Given the description of an element on the screen output the (x, y) to click on. 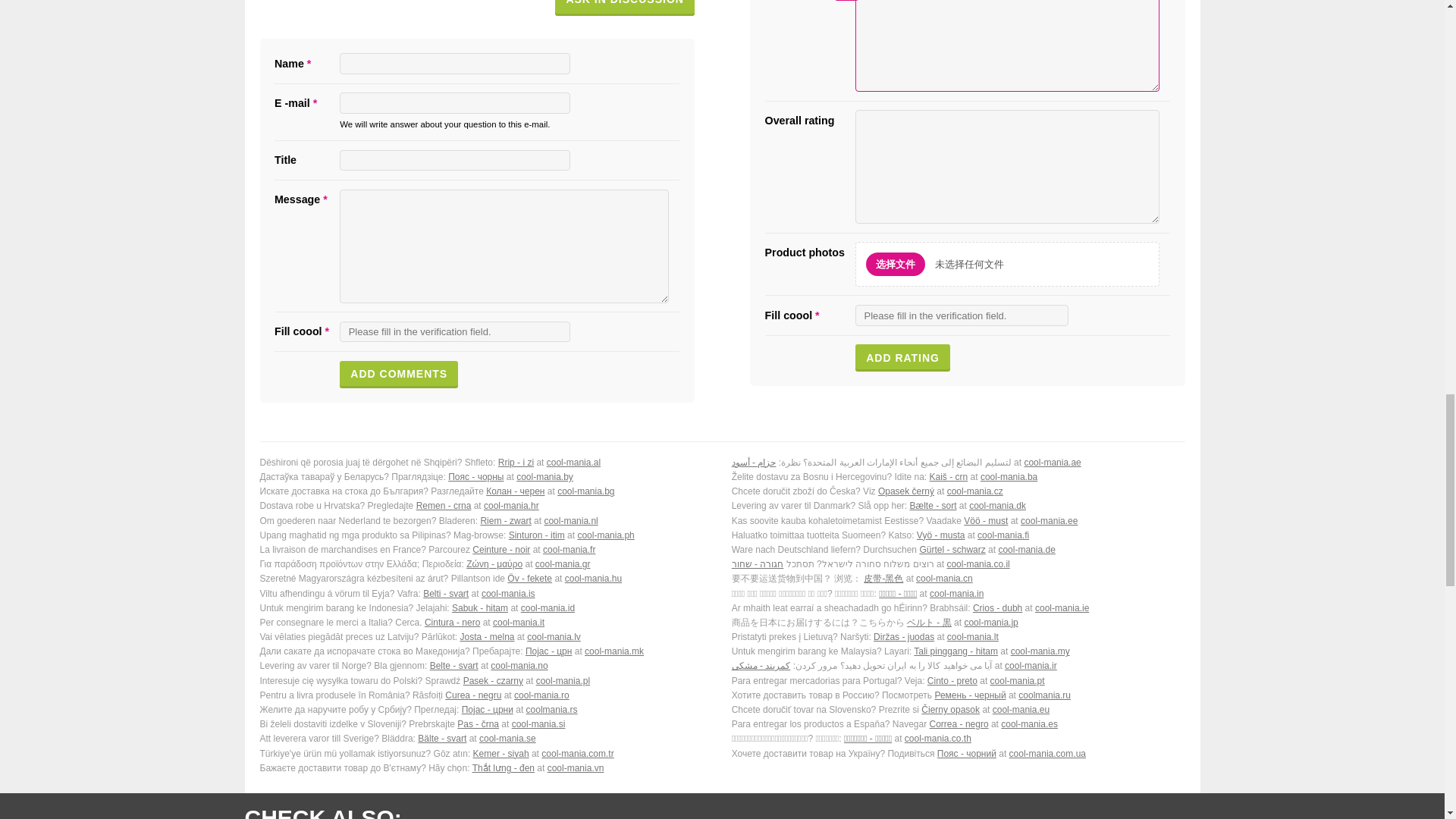
Rrip - i zi (515, 434)
cool-mania.by (544, 449)
To deliver goods worldwide? Browse: (486, 508)
To deliver goods worldwide? Browse: (486, 566)
cool-mania.al (573, 434)
To deliver goods worldwide? Browse: (486, 435)
To deliver goods worldwide? Browse: (486, 464)
To deliver goods worldwide? Browse: (486, 493)
To deliver goods worldwide? Browse: (486, 478)
To deliver goods worldwide? Browse: (958, 551)
To deliver goods worldwide? Browse: (958, 536)
To deliver goods worldwide? Browse: (958, 478)
To deliver goods worldwide? Browse: (958, 464)
To deliver goods worldwide? Browse: (486, 551)
Add comments (398, 347)
